Given the description of an element on the screen output the (x, y) to click on. 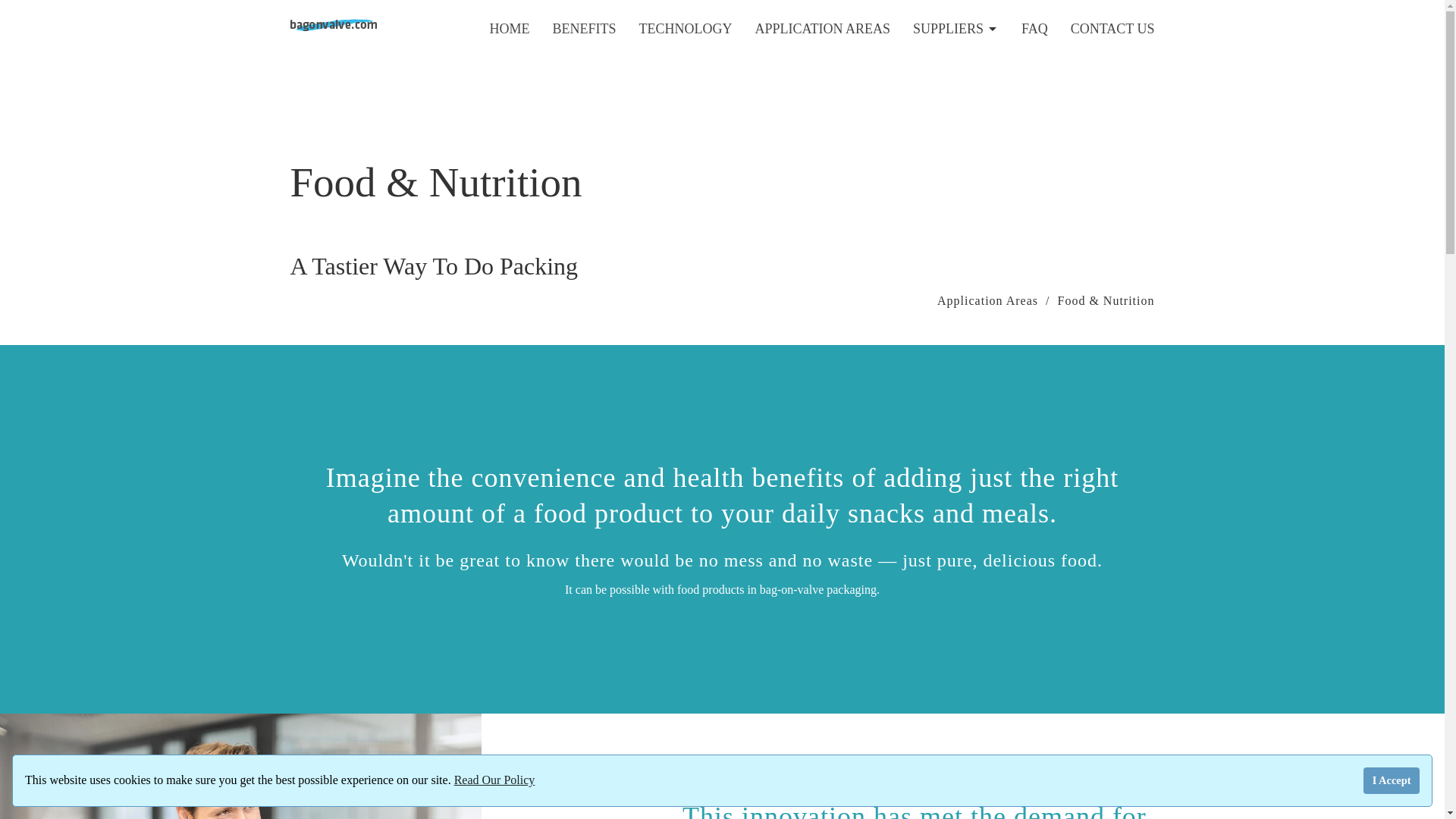
I Accept (1390, 780)
SUPPLIERS (955, 29)
CONTACT US (1112, 29)
Read Our Policy (494, 780)
FAQ (1035, 29)
Application Areas (987, 300)
HOME (509, 27)
APPLICATION AREAS (821, 29)
TECHNOLOGY (685, 28)
BENEFITS (583, 28)
